Given the description of an element on the screen output the (x, y) to click on. 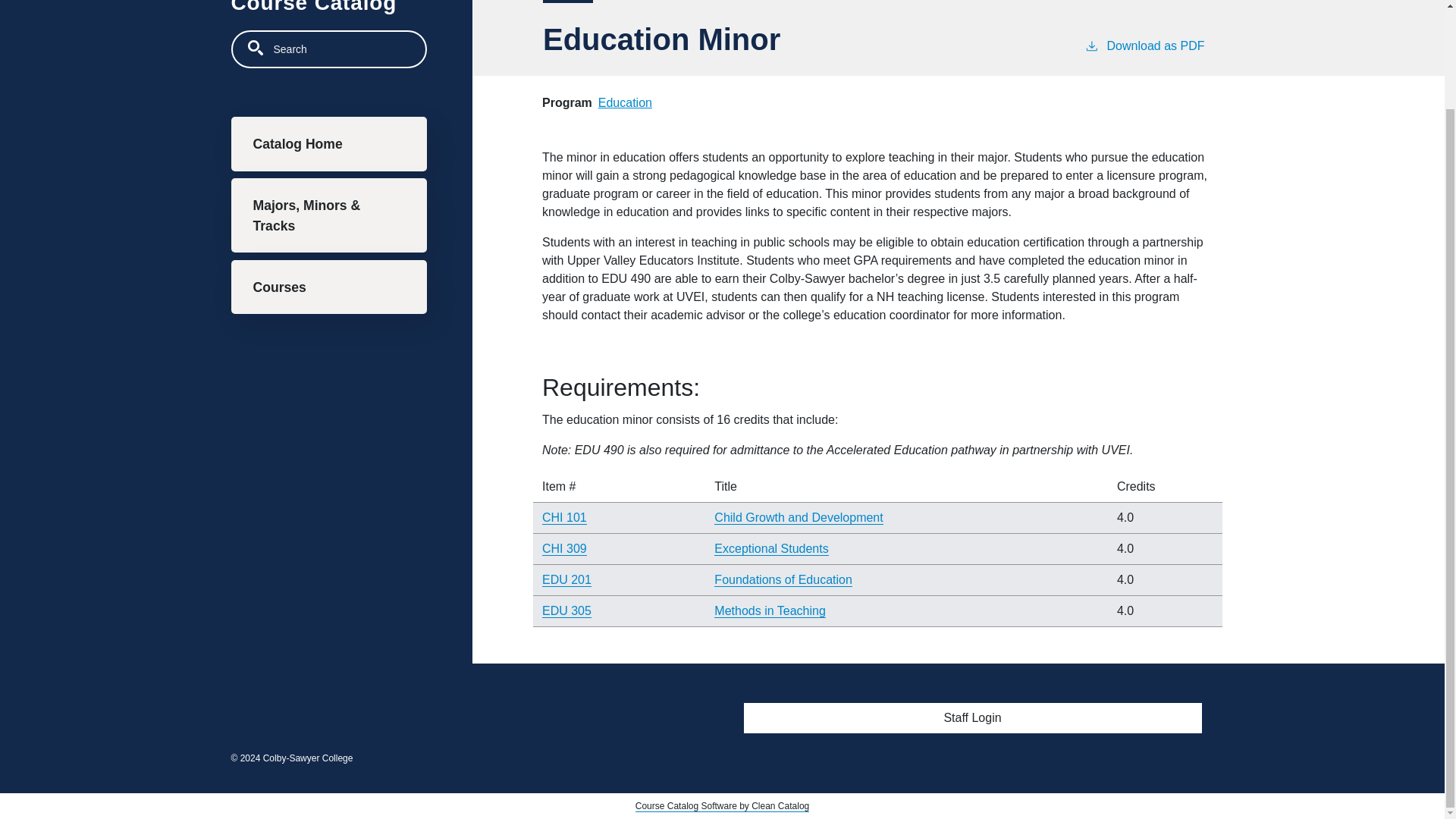
EDU 305 (566, 611)
Courses (328, 286)
Methods in Teaching (769, 611)
Search (254, 47)
Foundations of Education (782, 580)
CHI 101 (563, 517)
Staff Login (971, 717)
Child Growth and Development (798, 517)
Exceptional Students (771, 549)
EDU 201 (566, 580)
